Given the description of an element on the screen output the (x, y) to click on. 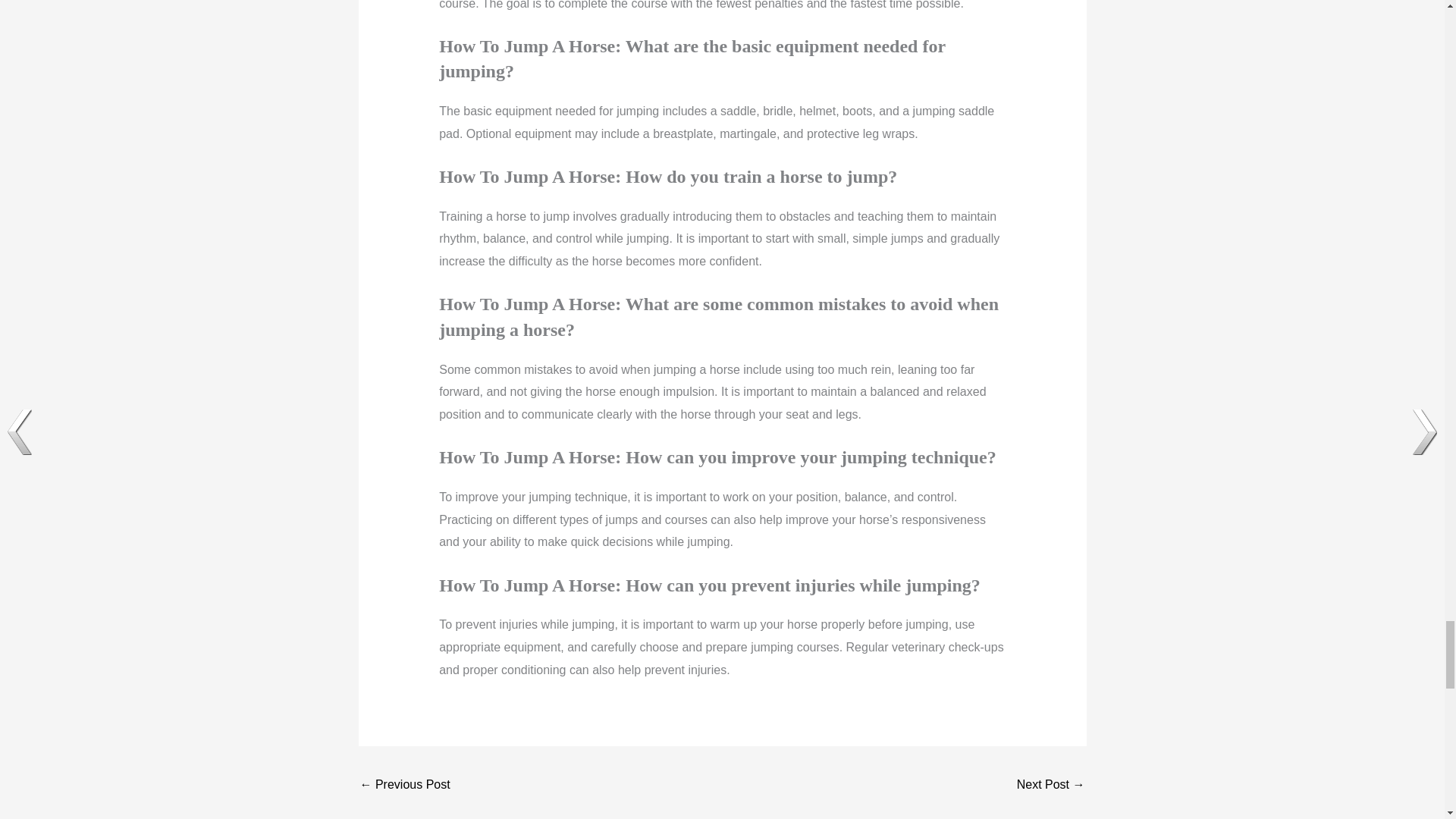
Signs Of Poor Saddle Fit (404, 786)
Types Of English Saddles (1050, 786)
